Given the description of an element on the screen output the (x, y) to click on. 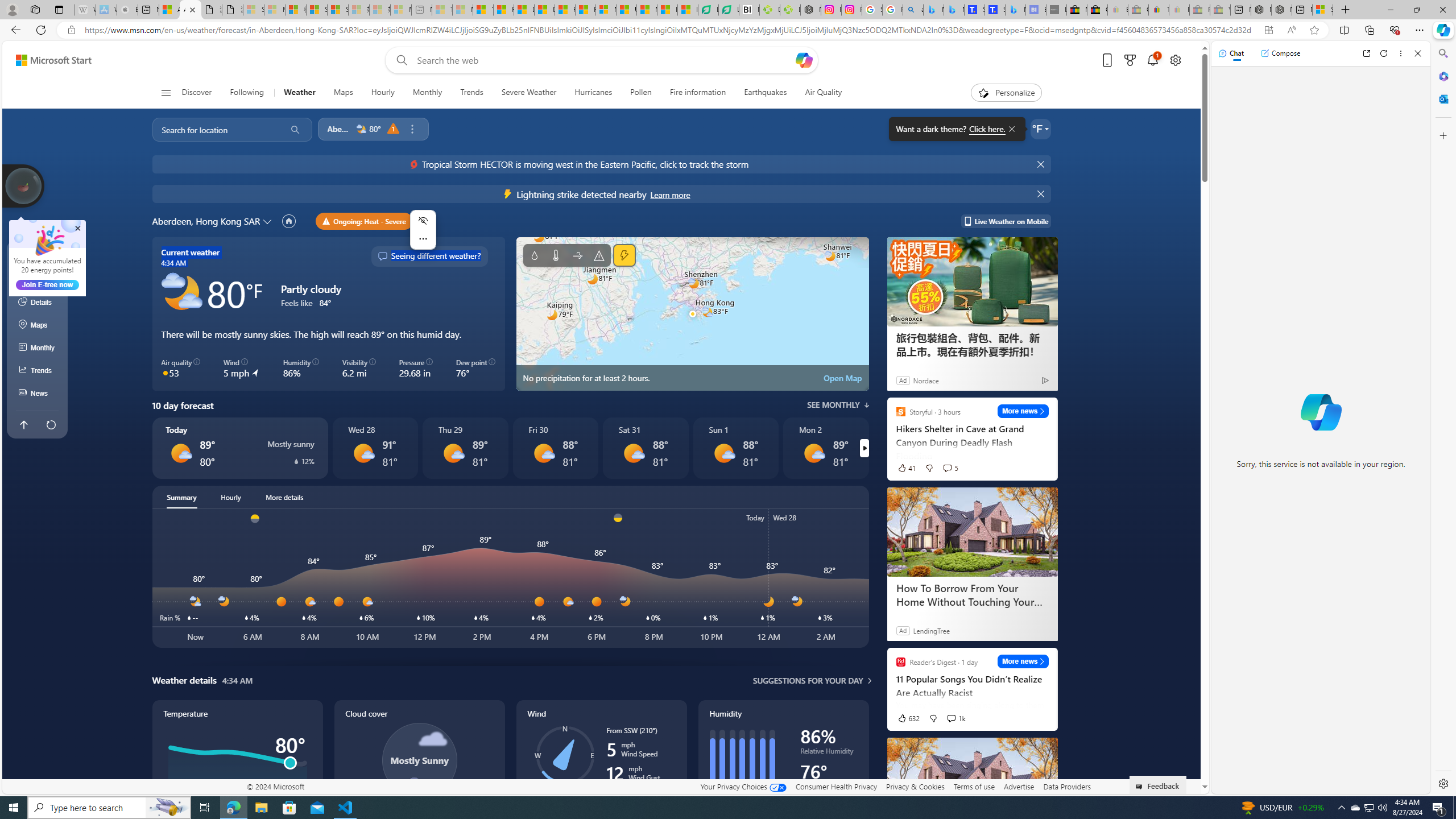
Safety in Our Products - Google Safety Center (871, 9)
Hurricanes (593, 92)
Buy iPad - Apple - Sleeping (127, 9)
Class: cloudCoverSvg-DS-ps0R9q (419, 760)
Precipitation (295, 461)
Class: miniMapRadarSVGView-DS-EntryPoint1-1 (692, 313)
See Monthly (837, 404)
